Given the description of an element on the screen output the (x, y) to click on. 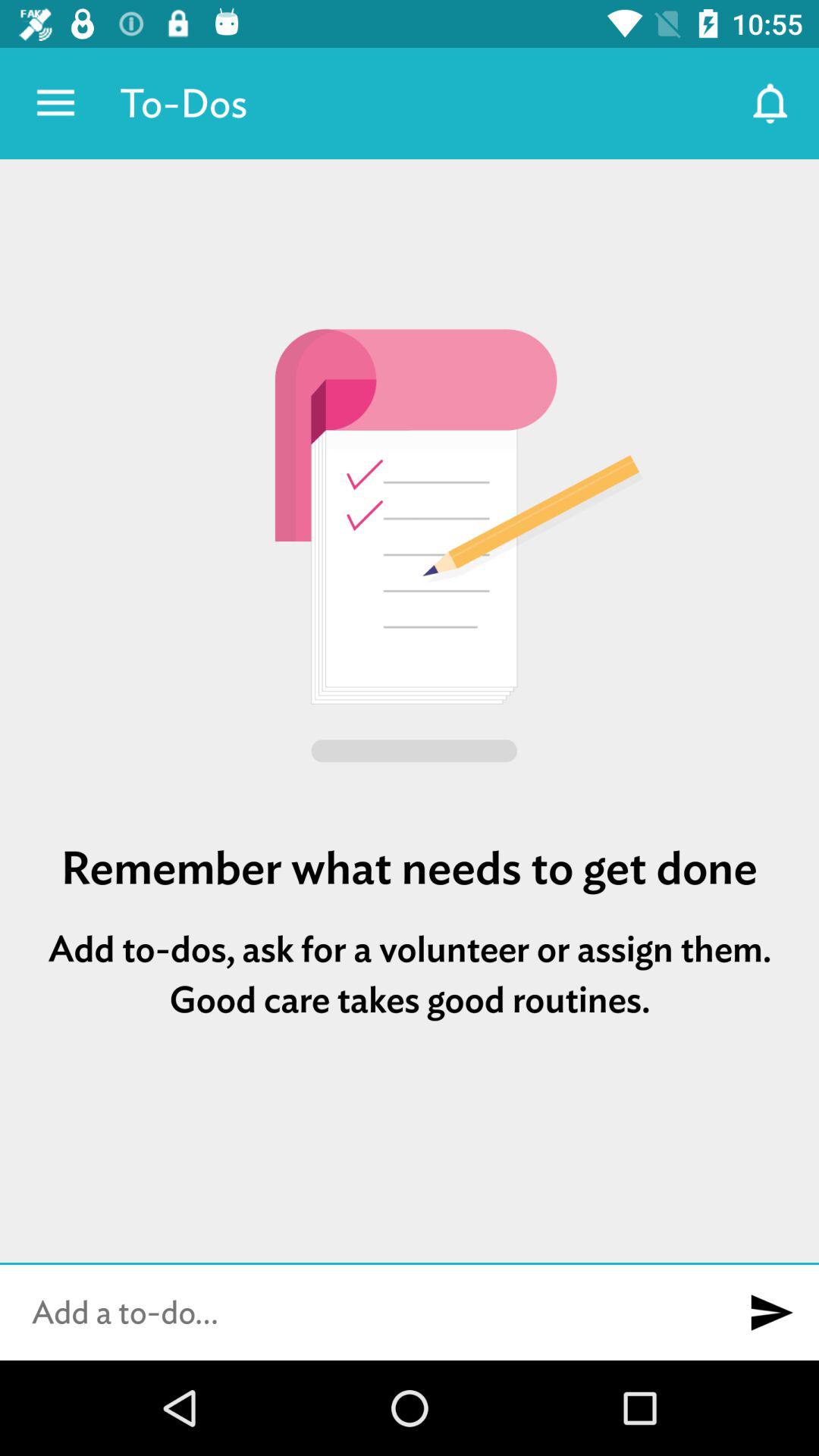
click the app next to the to-dos item (55, 103)
